Given the description of an element on the screen output the (x, y) to click on. 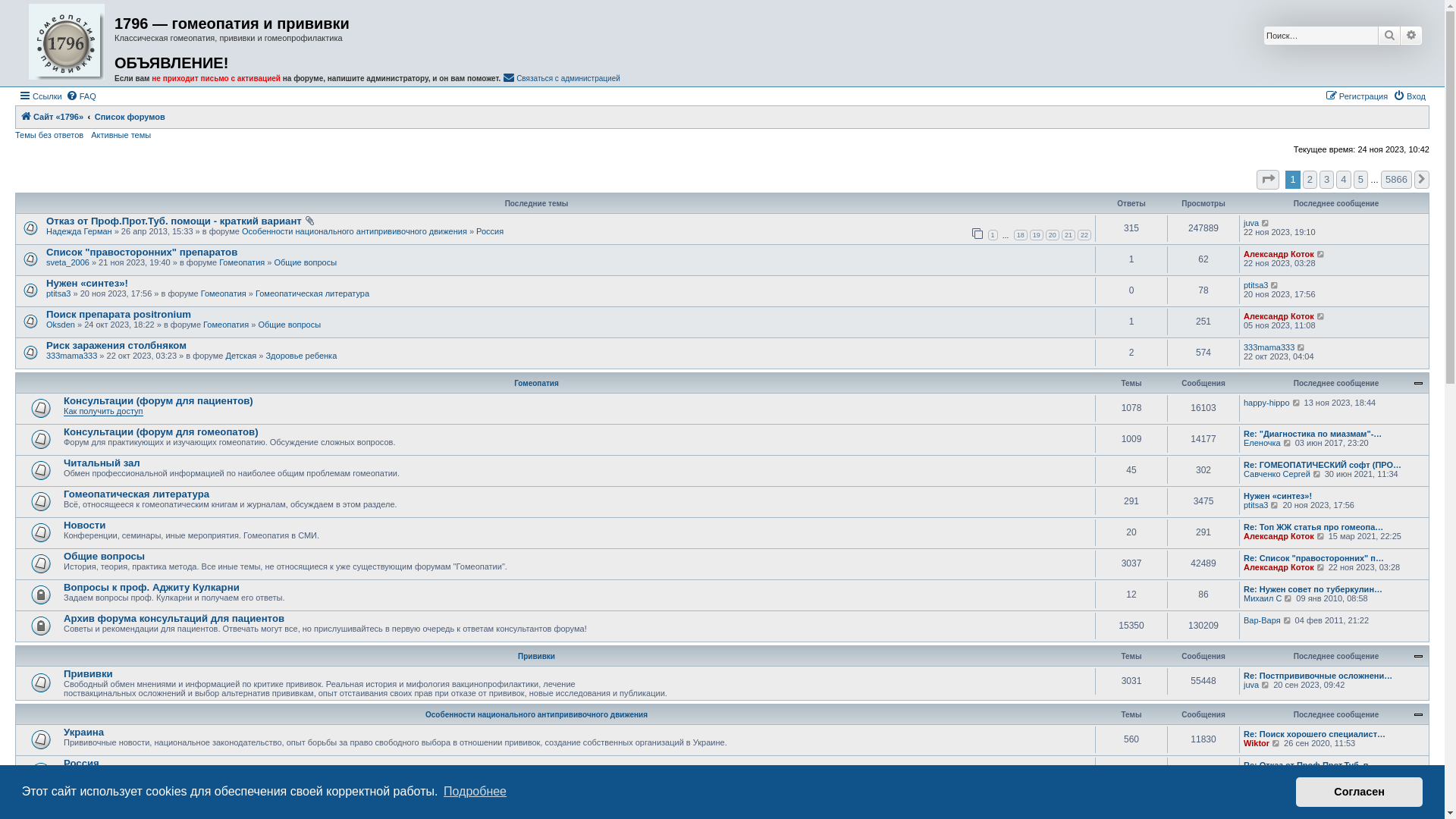
18 Element type: text (1020, 234)
ptitsa3 Element type: text (58, 293)
333mama333 Element type: text (1268, 346)
19 Element type: text (1036, 234)
mitrula Element type: text (1255, 807)
juva Element type: text (1250, 222)
juva Element type: text (1250, 684)
sveta_2006 Element type: text (67, 261)
juva Element type: text (1250, 773)
FAQ Element type: text (80, 96)
2 Element type: text (1309, 179)
21 Element type: text (1068, 234)
22 Element type: text (1084, 234)
4 Element type: text (1343, 179)
333mama333 Element type: text (71, 355)
ptitsa3 Element type: text (1255, 284)
5866 Element type: text (1396, 179)
Wiktor Element type: text (1256, 742)
Oksden Element type: text (60, 324)
20 Element type: text (1052, 234)
ptitsa3 Element type: text (1255, 504)
happy-hippo Element type: text (1266, 402)
5 Element type: text (1360, 179)
1 Element type: text (992, 234)
3 Element type: text (1326, 179)
